Given the description of an element on the screen output the (x, y) to click on. 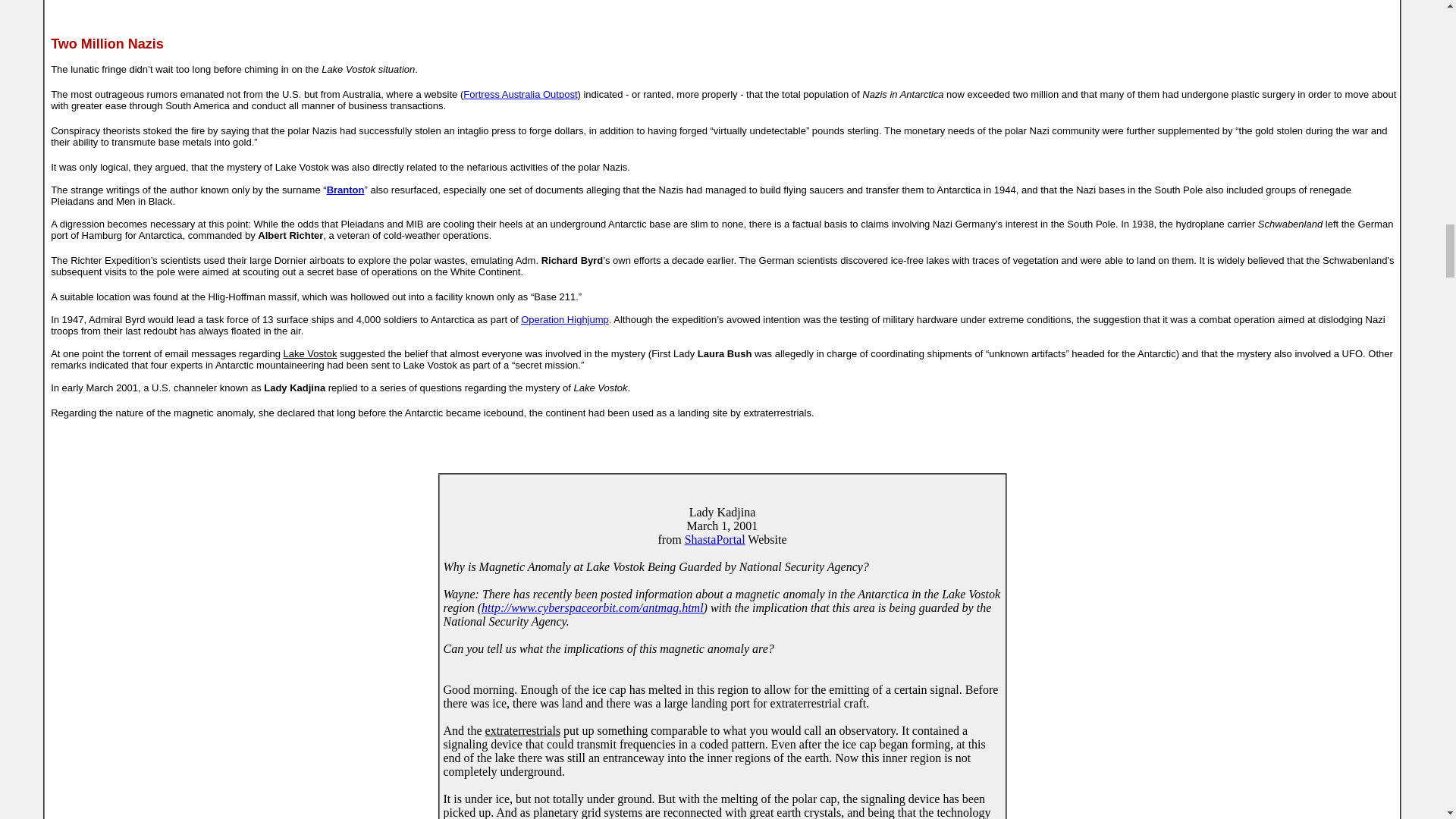
ShastaPortal (714, 539)
Lady Kadjina (721, 512)
Branton (345, 189)
Operation Highjump (564, 319)
Fortress Australia Outpost (519, 93)
